Given the description of an element on the screen output the (x, y) to click on. 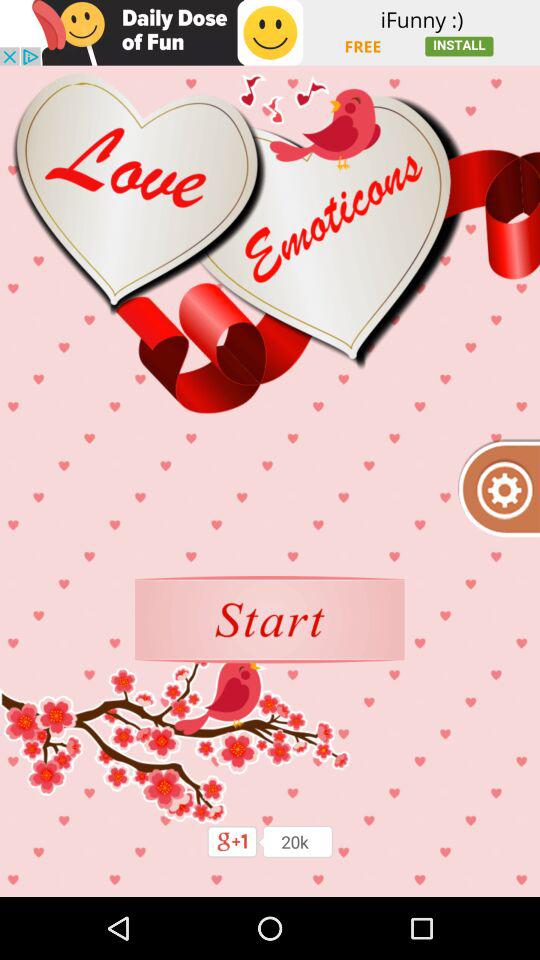
settings (498, 487)
